Given the description of an element on the screen output the (x, y) to click on. 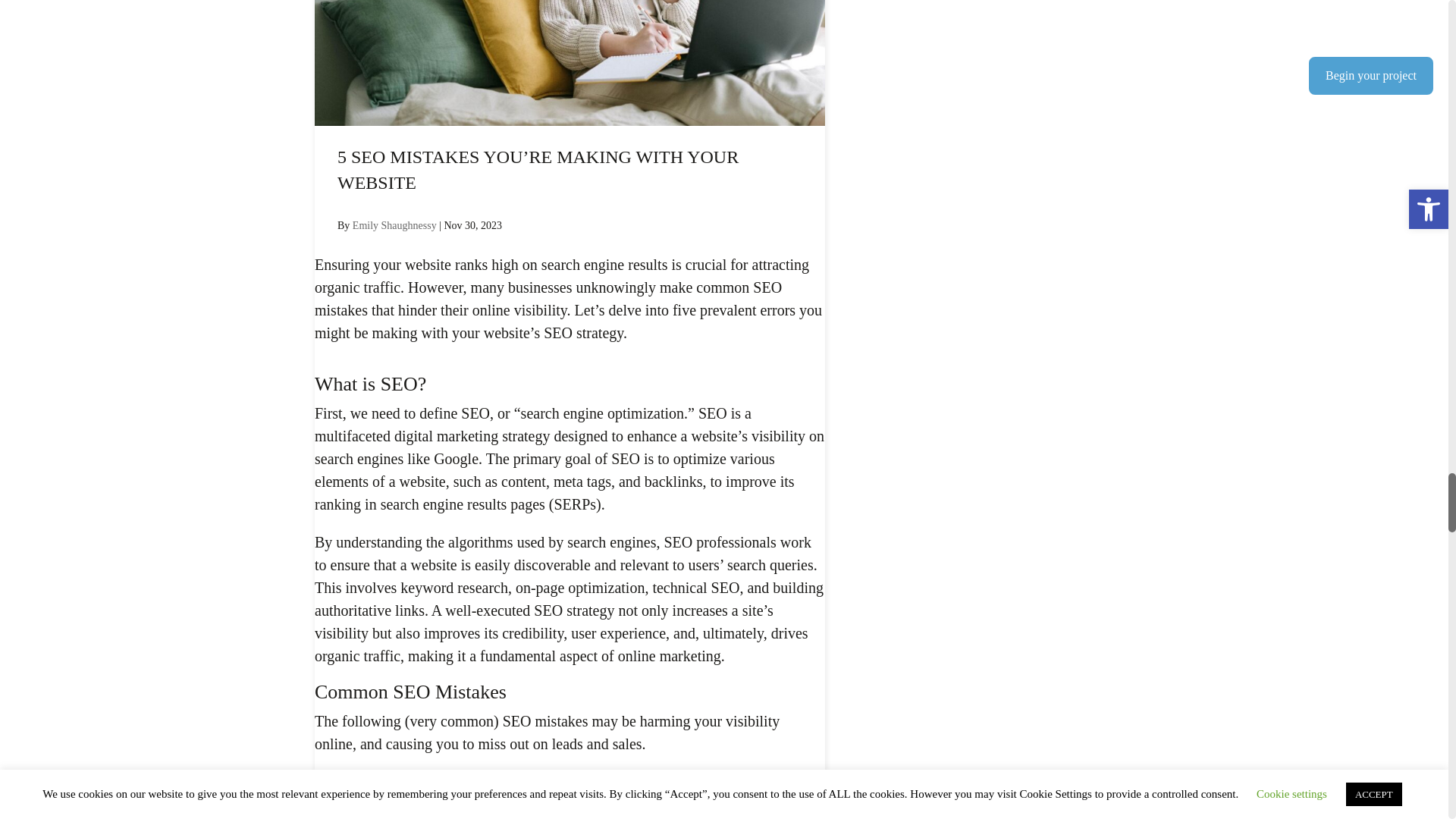
Posts by Emily Shaughnessy (394, 225)
